Given the description of an element on the screen output the (x, y) to click on. 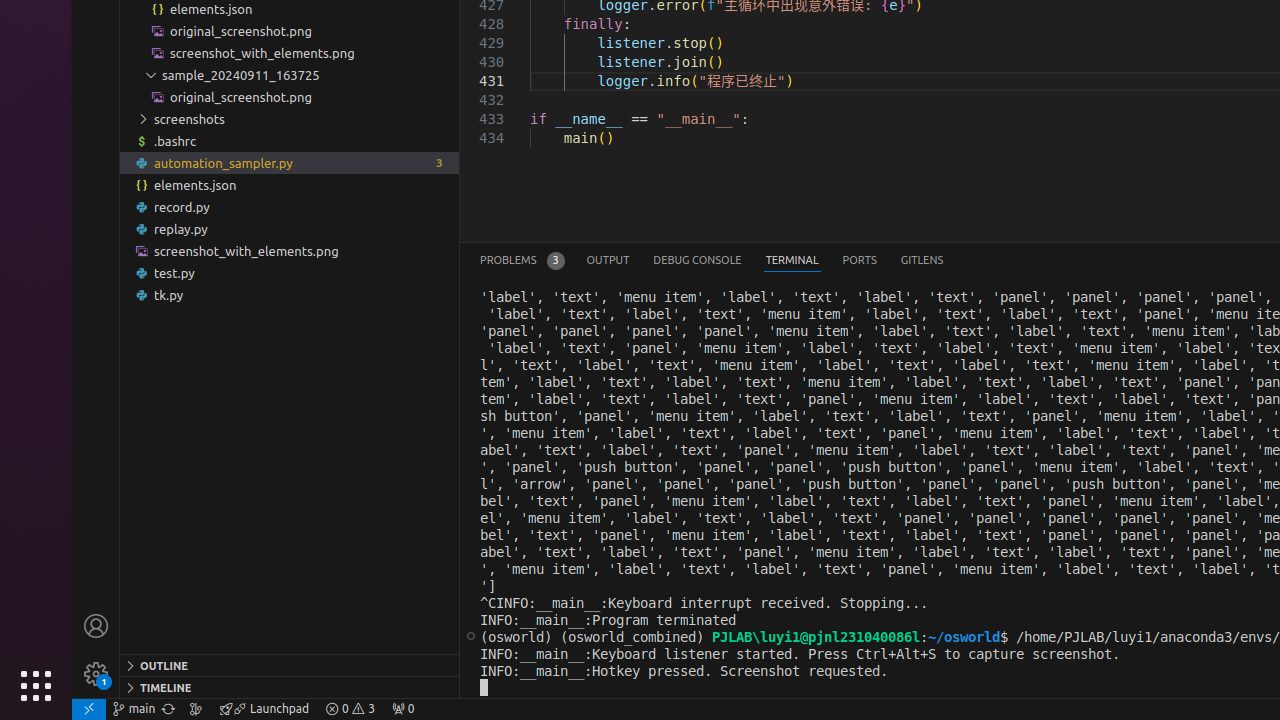
remote Element type: push-button (89, 709)
Timeline Section Element type: push-button (289, 687)
replay.py Element type: tree-item (289, 228)
Accounts Element type: push-button (96, 626)
